Given the description of an element on the screen output the (x, y) to click on. 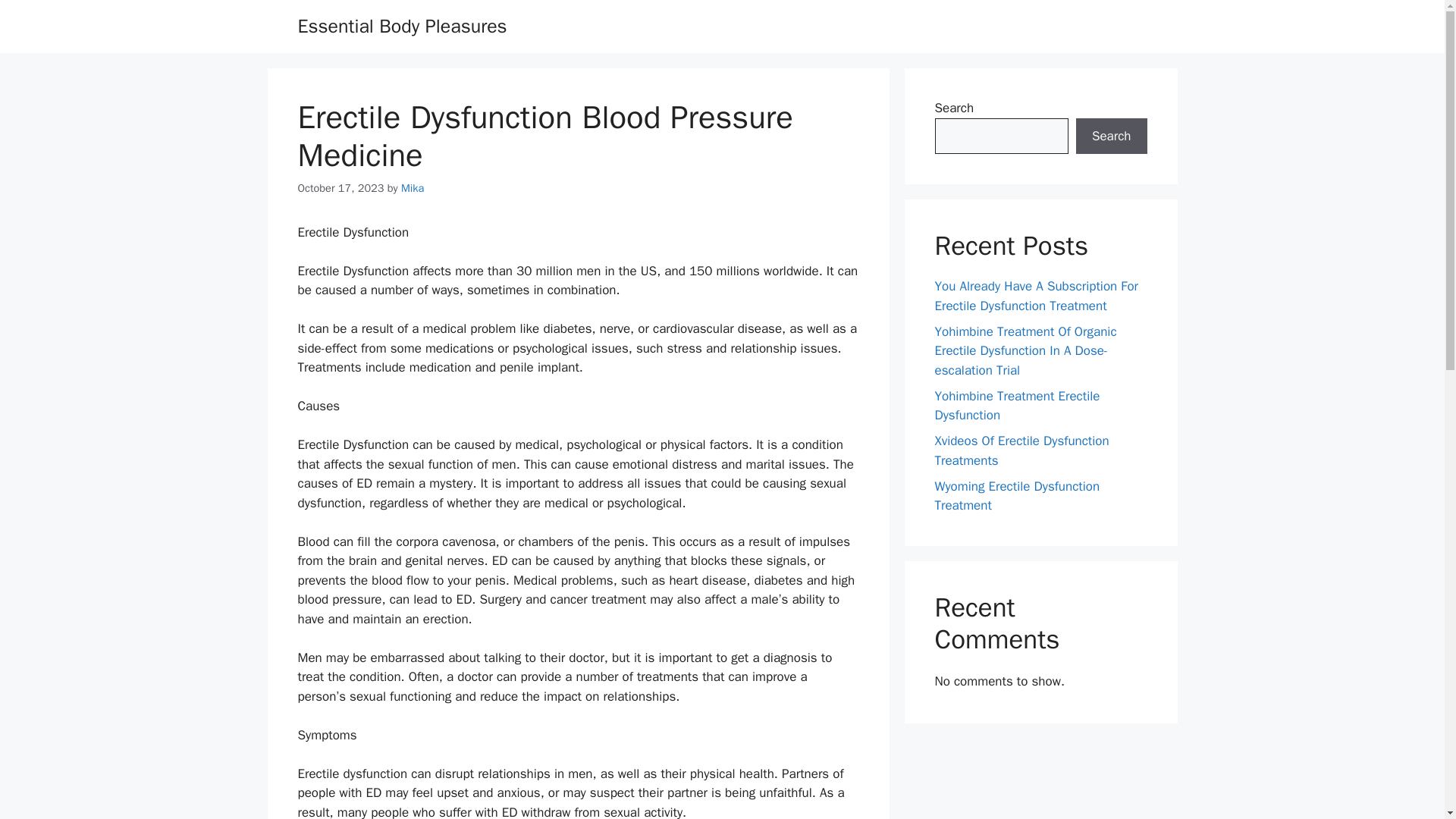
Wyoming Erectile Dysfunction Treatment (1016, 495)
Essential Body Pleasures (401, 25)
Search (1111, 135)
Mika (412, 187)
Xvideos Of Erectile Dysfunction Treatments (1021, 450)
Yohimbine Treatment Erectile Dysfunction (1016, 406)
View all posts by Mika (412, 187)
